Given the description of an element on the screen output the (x, y) to click on. 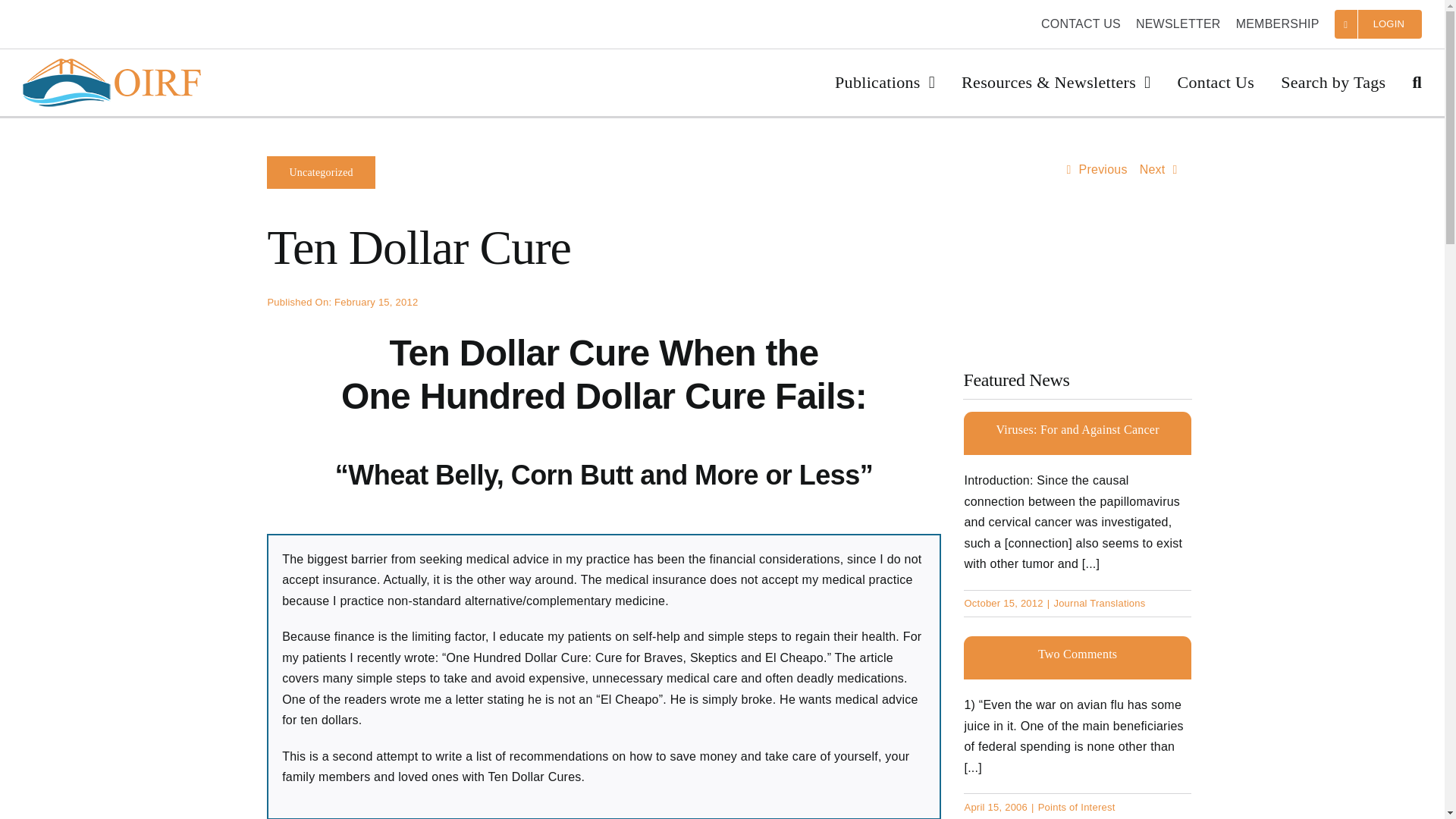
Journal Translations (1098, 603)
Previous (1096, 169)
Search by Tags (1333, 82)
LOGIN (1378, 24)
Contact Us (1214, 82)
MEMBERSHIP (1277, 24)
Publications (884, 82)
Uncategorized (320, 172)
CONTACT US (1081, 24)
Next (1158, 169)
